Given the description of an element on the screen output the (x, y) to click on. 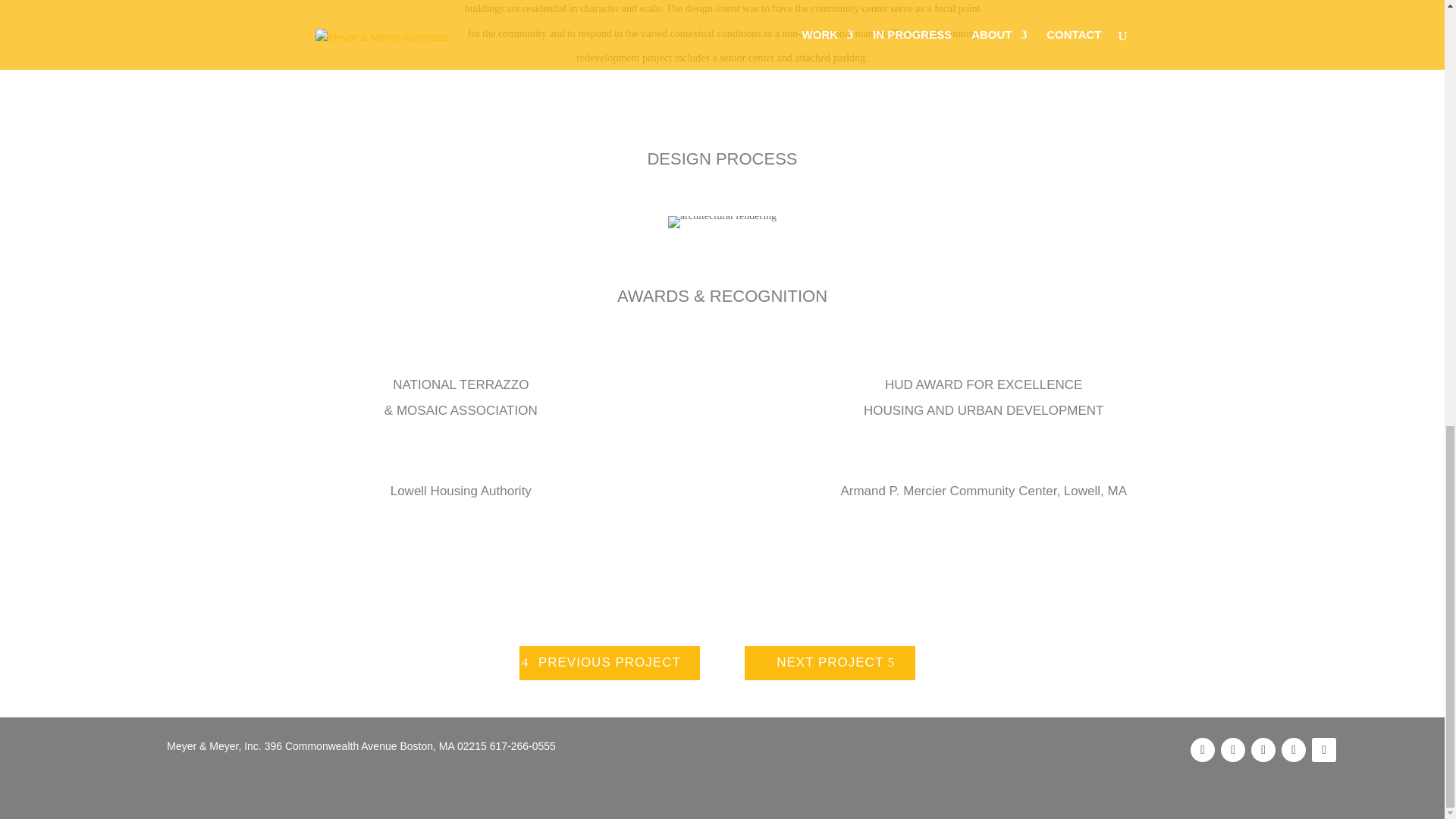
Follow on Facebook (1202, 749)
Follow on Instagram (1293, 749)
Follow on Pinterest (1232, 749)
Follow on LinkedIn (1262, 749)
Follow on Houzz (1323, 749)
Mercier5 (722, 222)
NEXT PROJECT (829, 663)
PREVIOUS PROJECT (609, 663)
